Given the description of an element on the screen output the (x, y) to click on. 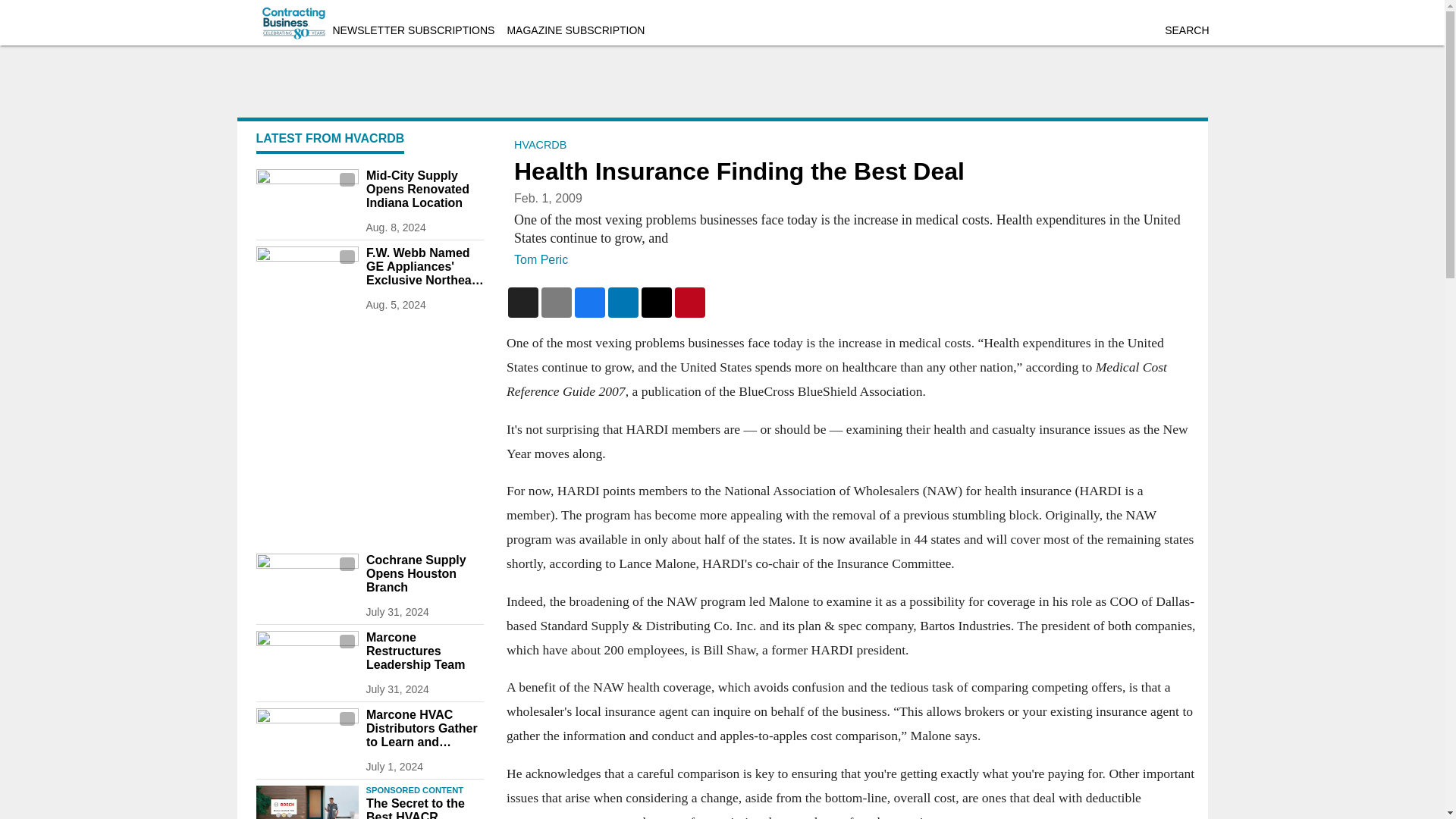
Cochrane Supply Opens Houston Branch (424, 573)
MAGAZINE SUBSCRIPTION (575, 30)
Marcone HVAC Distributors Gather to Learn and Network (424, 728)
HVACRDB (539, 144)
Tom Peric (540, 259)
NEWSLETTER SUBSCRIPTIONS (413, 30)
Marcone Restructures Leadership Team (424, 650)
SEARCH (1186, 30)
